Given the description of an element on the screen output the (x, y) to click on. 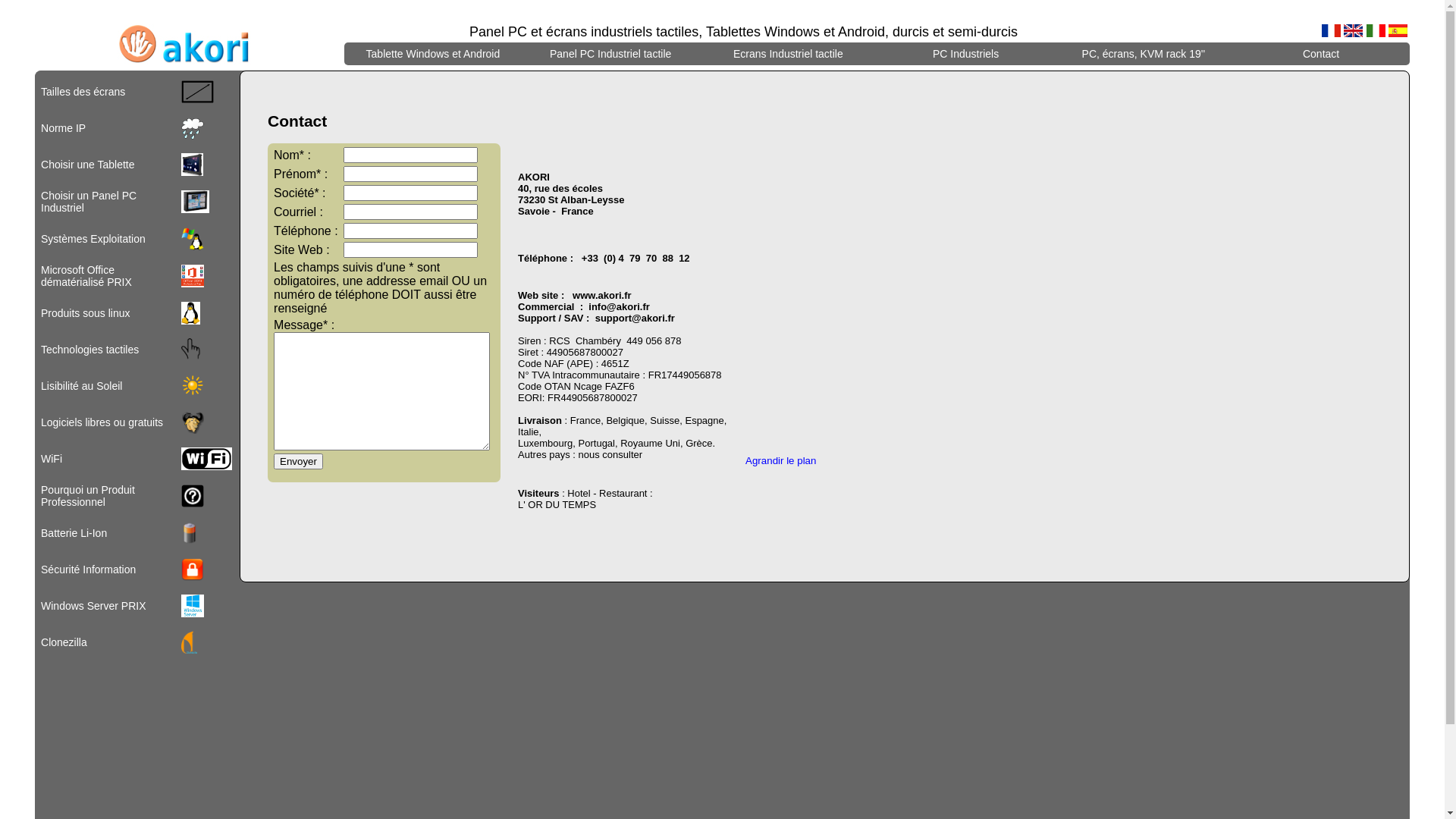
www.akori.fr Element type: text (601, 295)
Choisir un Panel PC Industriel Element type: text (88, 201)
Ecrans Industriel tactile Element type: text (788, 53)
L' OR DU TEMPS Element type: text (556, 504)
PC Industriels Element type: text (965, 53)
Contact Element type: text (1320, 53)
Versione italiana del sito Element type: hover (1375, 30)
Tablette Windows et Android Element type: text (432, 53)
info@akori.fr Element type: text (618, 306)
Contact Element type: text (1320, 53)
Logiciels libres ou gratuits Element type: text (101, 422)
Agrandir le plan Element type: text (780, 460)
Windows Server PRIX Element type: text (92, 605)
Clonezilla Element type: text (63, 642)
WiFi Element type: text (51, 458)
Envoyer Element type: text (298, 461)
Panel PC Industriel tactile Element type: text (610, 53)
support@akori.fr Element type: text (634, 317)
Website in English Element type: hover (1352, 30)
Norme IP Element type: text (62, 128)
PC Industriels Element type: text (965, 53)
Tablette Windows et Android Element type: text (433, 53)
Batterie Li-Ion Element type: text (73, 533)
Pourquoi un Produit Professionnel Element type: text (87, 495)
Produits sous linux Element type: text (85, 313)
Technologies tactiles Element type: text (89, 349)
Choisir une Tablette Element type: text (87, 164)
